Given the description of an element on the screen output the (x, y) to click on. 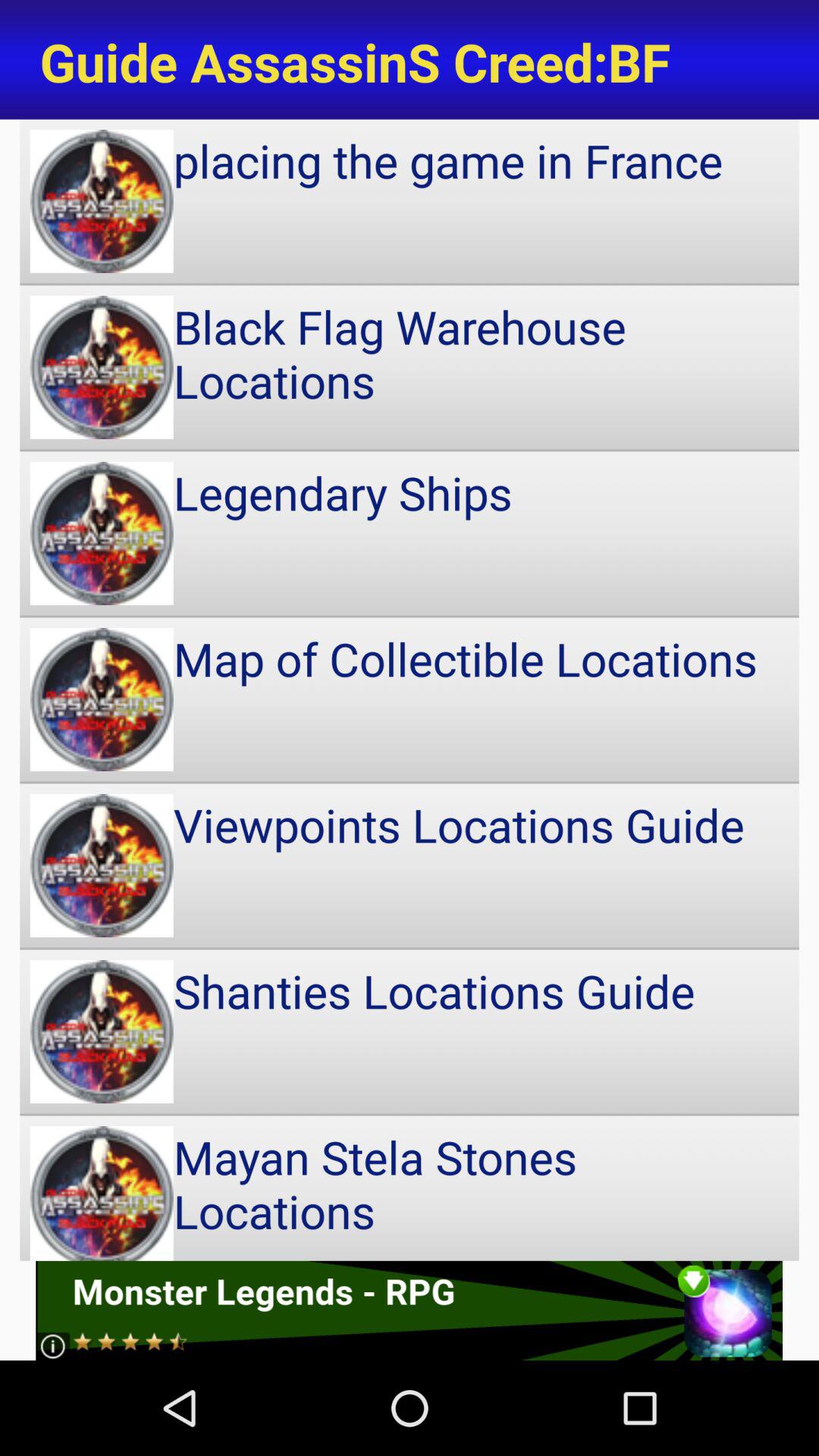
turn off item above legendary ships (409, 367)
